Given the description of an element on the screen output the (x, y) to click on. 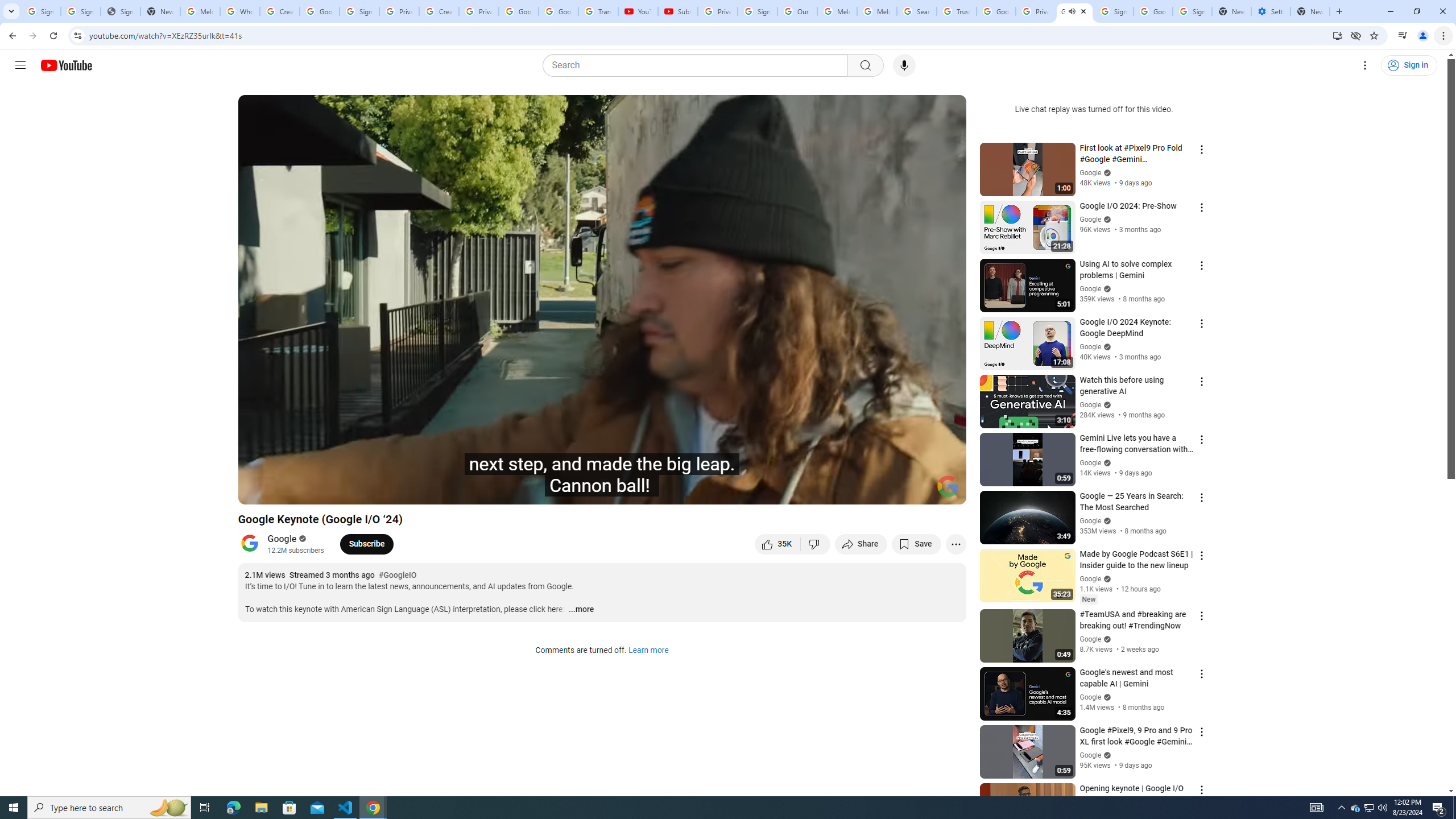
Pause (k) (257, 490)
Trusted Information and Content - Google Safety Center (956, 11)
Sign in - Google Accounts (80, 11)
Search our Doodle Library Collection - Google Doodles (916, 11)
Sign in - Google Accounts (1192, 11)
Google Ads - Sign in (995, 11)
#GoogleIO (397, 575)
Save to playlist (915, 543)
